Given the description of an element on the screen output the (x, y) to click on. 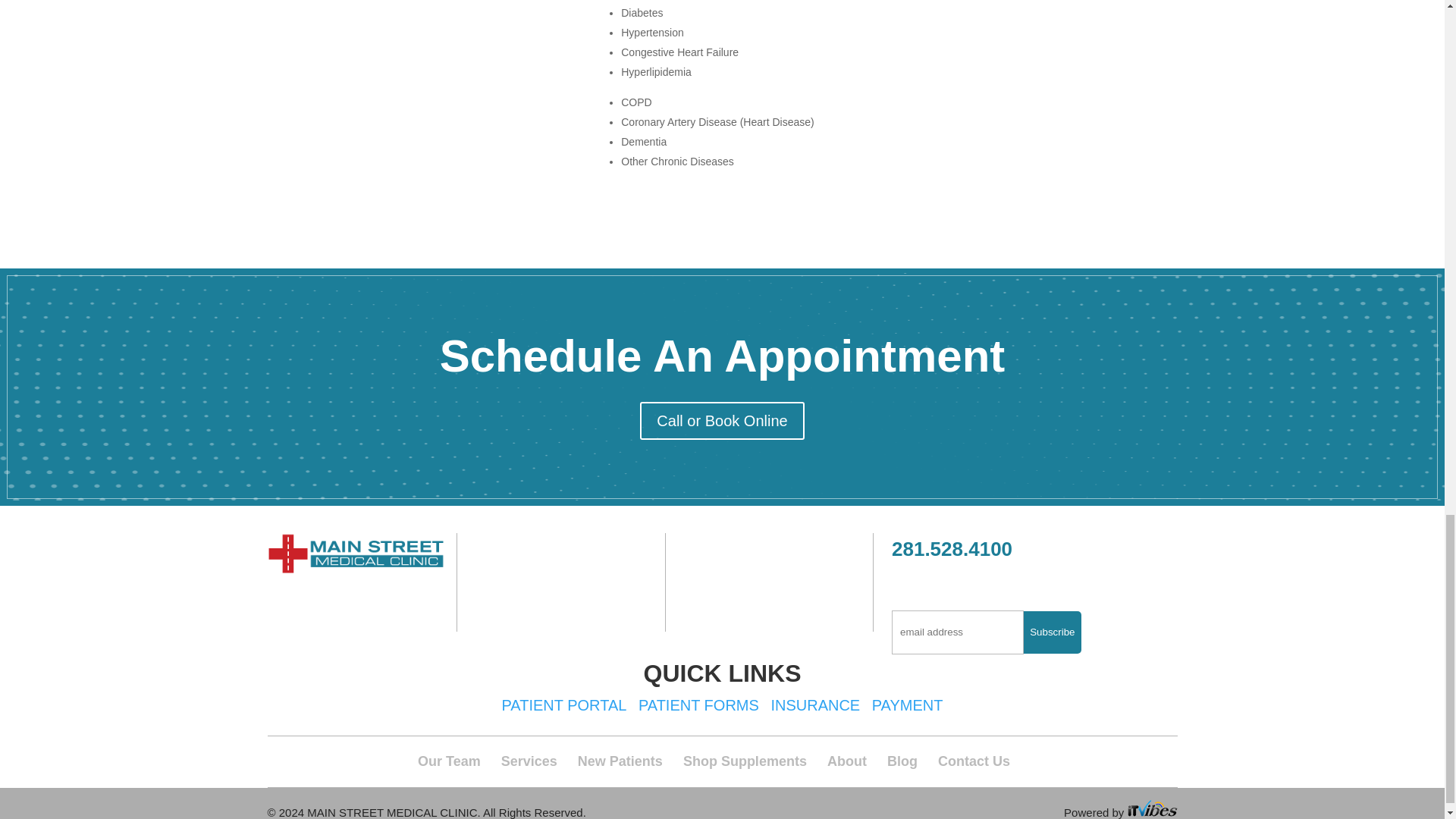
ITVibes (1151, 808)
Subscribe (1051, 631)
